Given the description of an element on the screen output the (x, y) to click on. 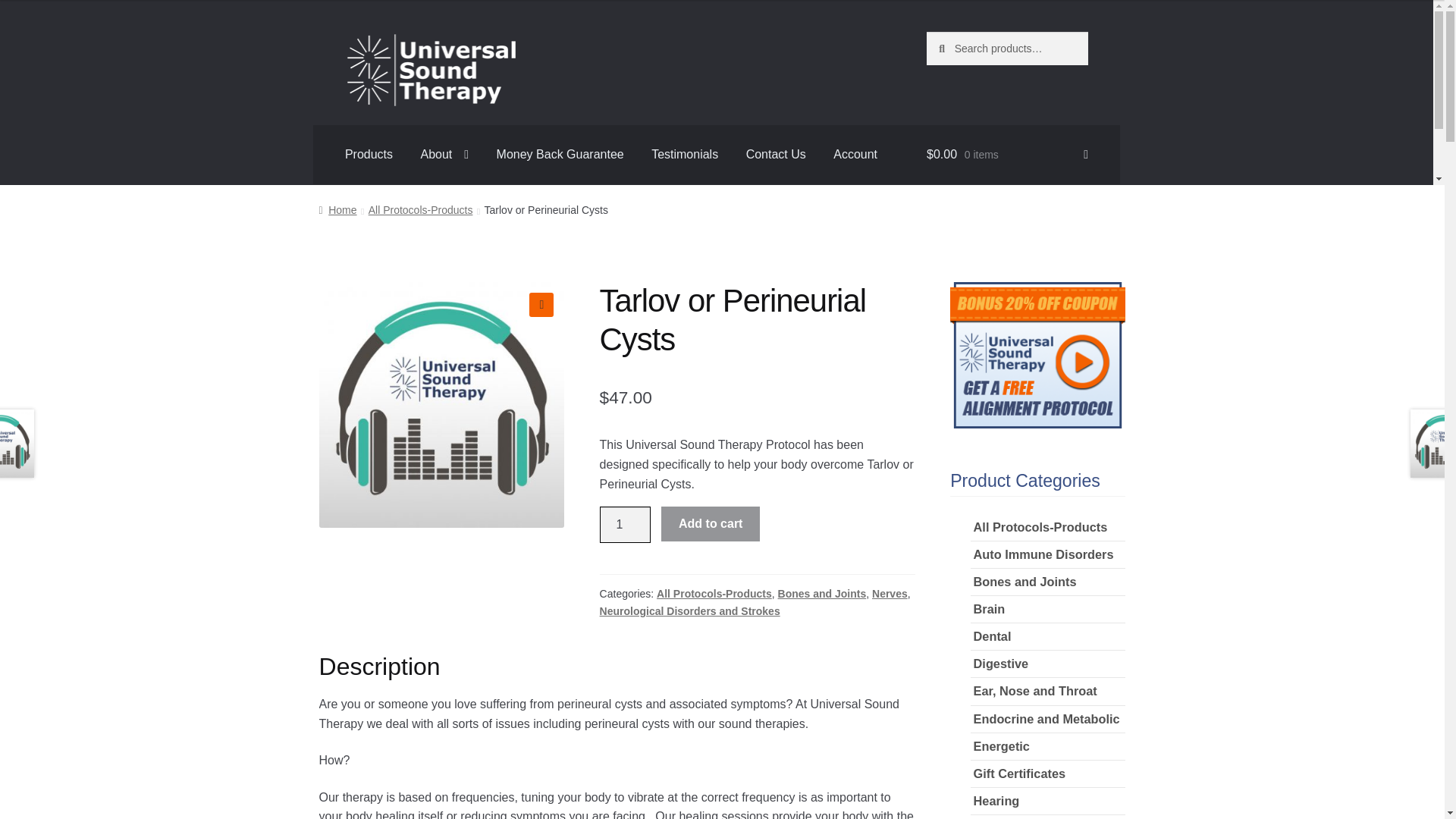
1 (624, 524)
Products (368, 154)
View your shopping cart (1006, 154)
About (443, 154)
Testimonials (684, 154)
Contact Us (775, 154)
Account (855, 154)
Money Back Guarantee (560, 154)
